Given the description of an element on the screen output the (x, y) to click on. 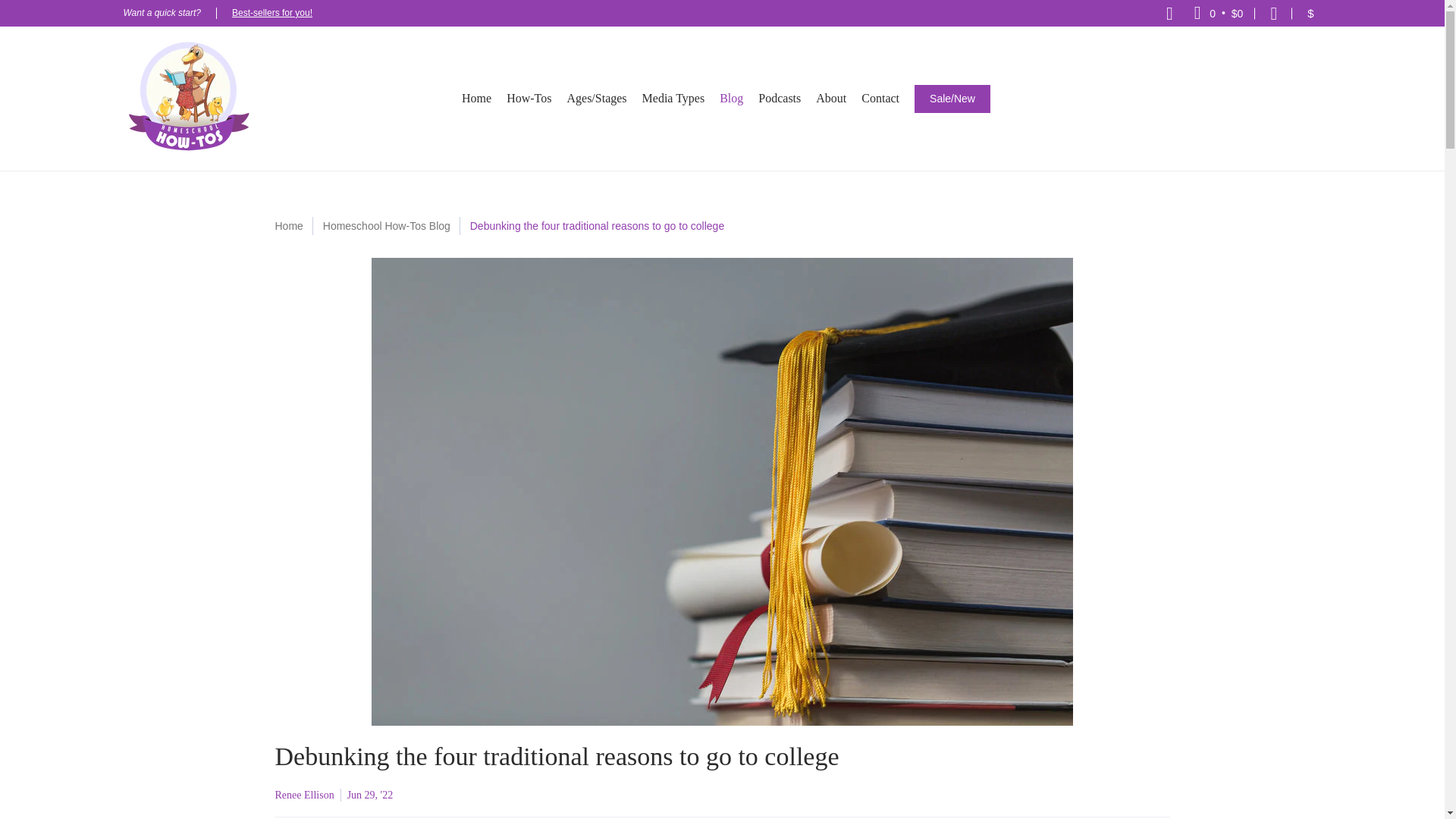
Cart (1218, 13)
Search (1169, 13)
Best-sellers for you! (272, 12)
Update store currency (1309, 13)
Log in (1273, 13)
